Given the description of an element on the screen output the (x, y) to click on. 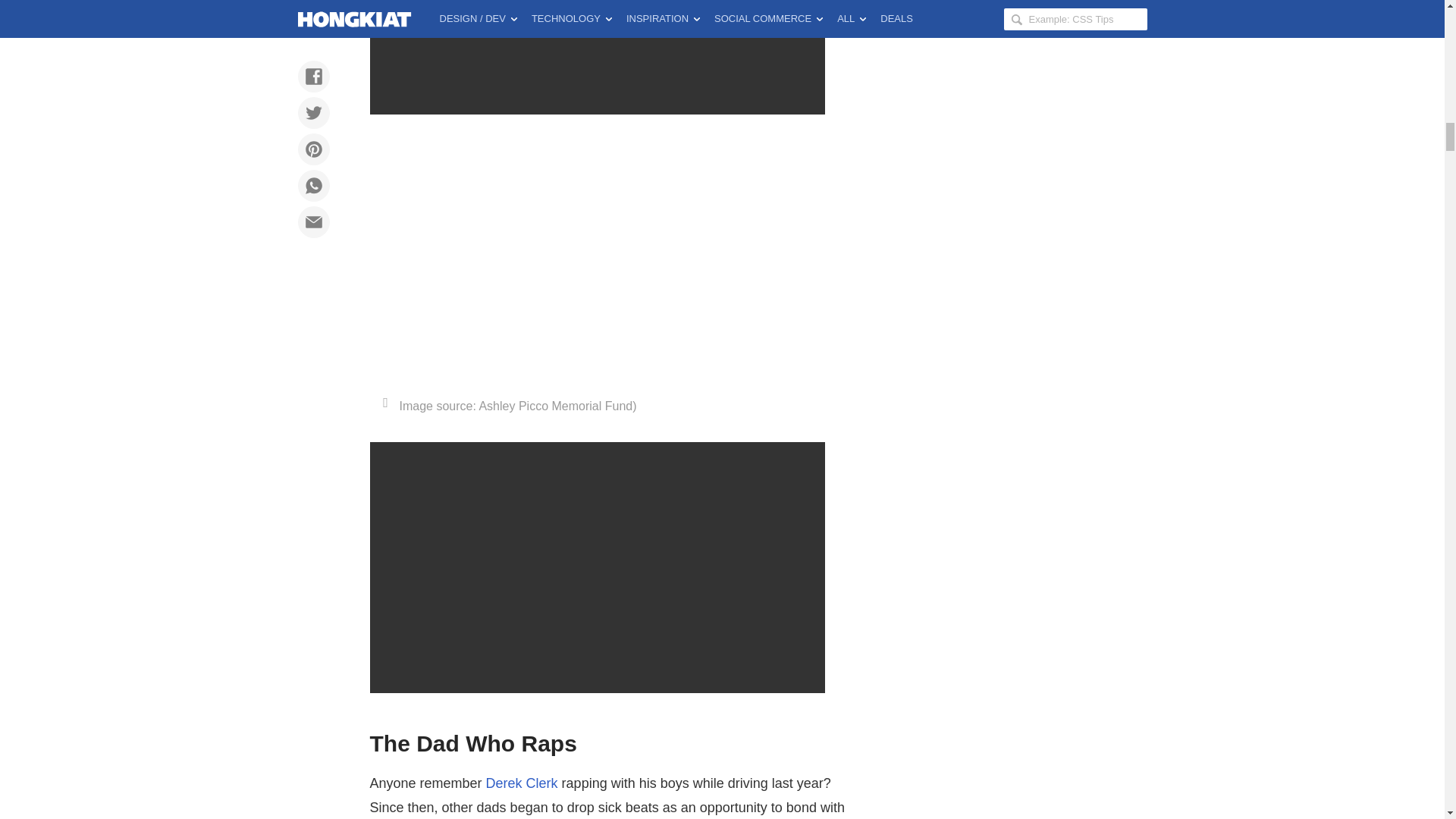
Derek Clerk (521, 783)
